Given the description of an element on the screen output the (x, y) to click on. 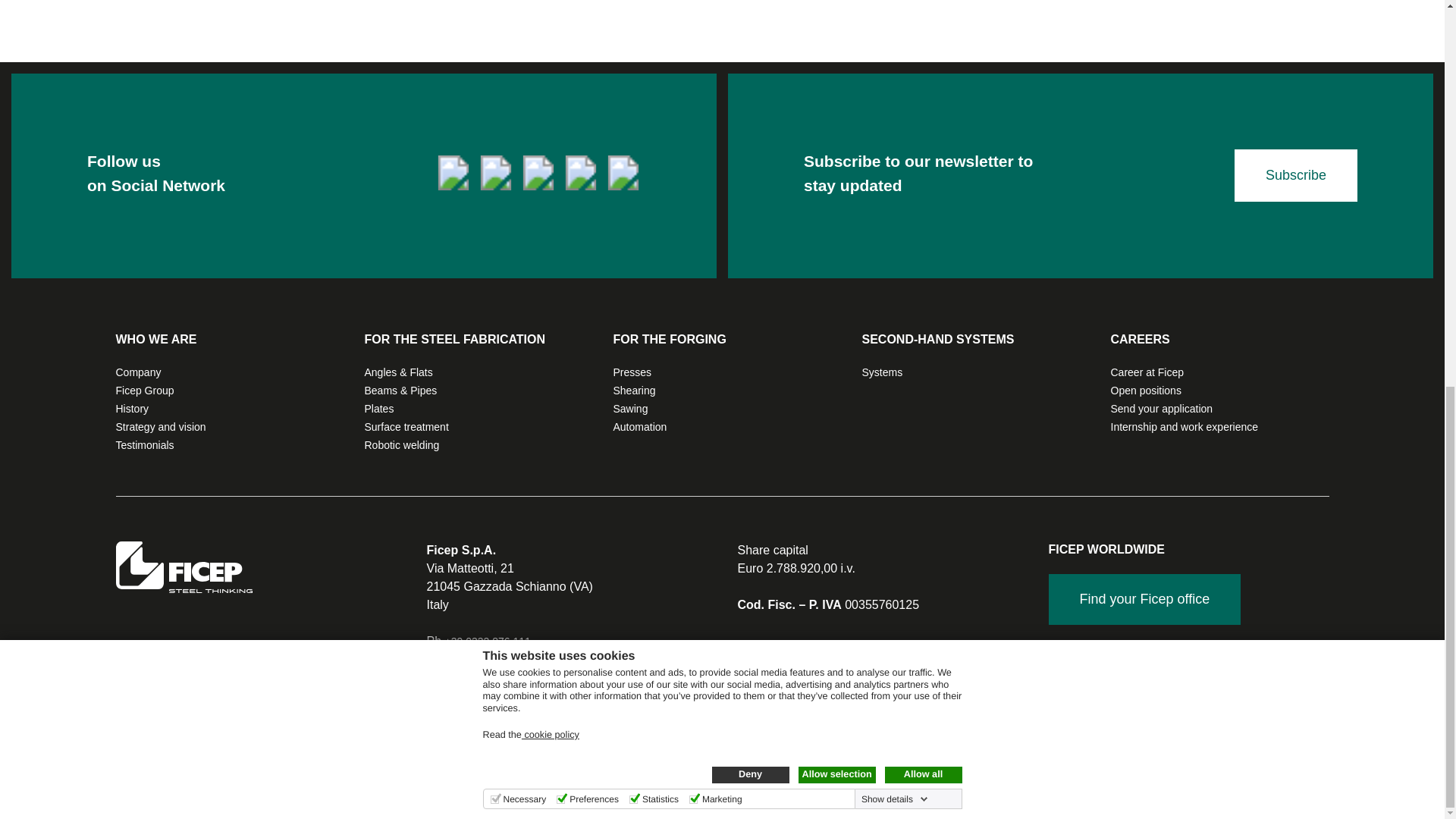
Deny (750, 44)
 cookie policy (550, 4)
Allow selection (836, 44)
Show details (895, 68)
cookie policy (550, 4)
Allow all (921, 44)
